Given the description of an element on the screen output the (x, y) to click on. 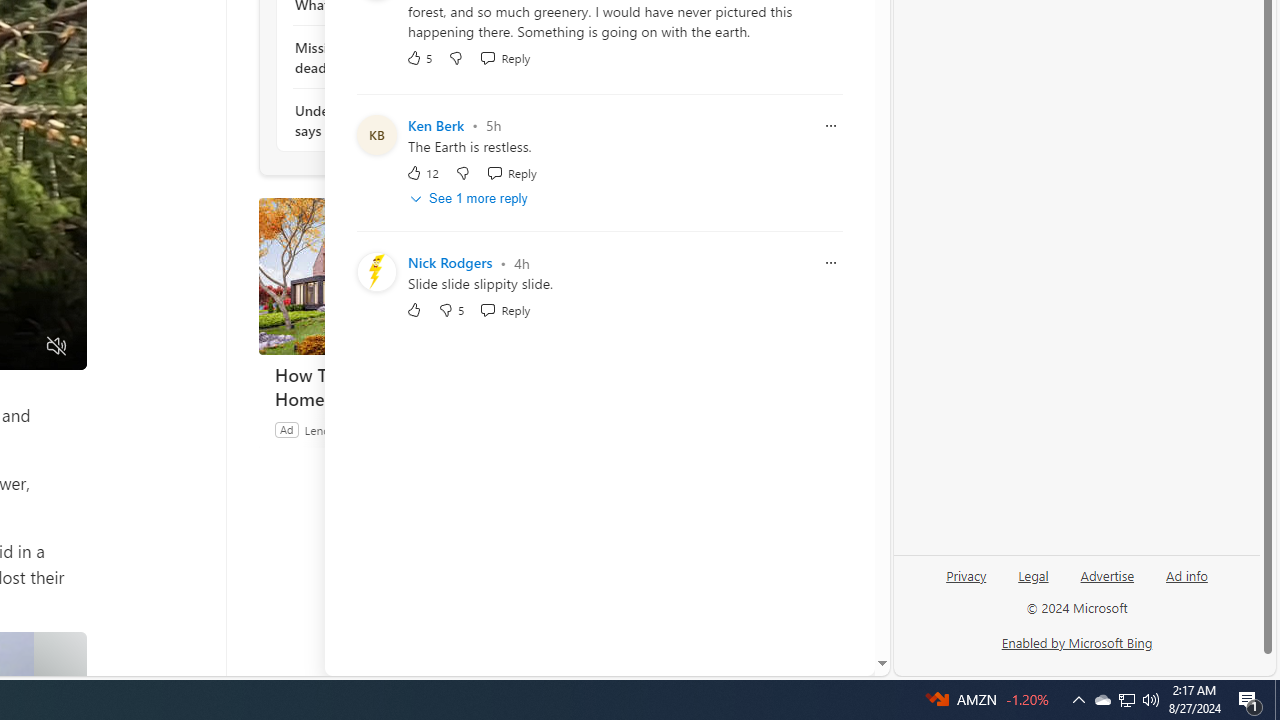
Profile Picture (376, 272)
See 1 more reply (470, 199)
LendingTree (336, 429)
Like (414, 310)
Ken Berk (436, 125)
Profile Picture (376, 272)
Nick Rodgers (450, 263)
